Given the description of an element on the screen output the (x, y) to click on. 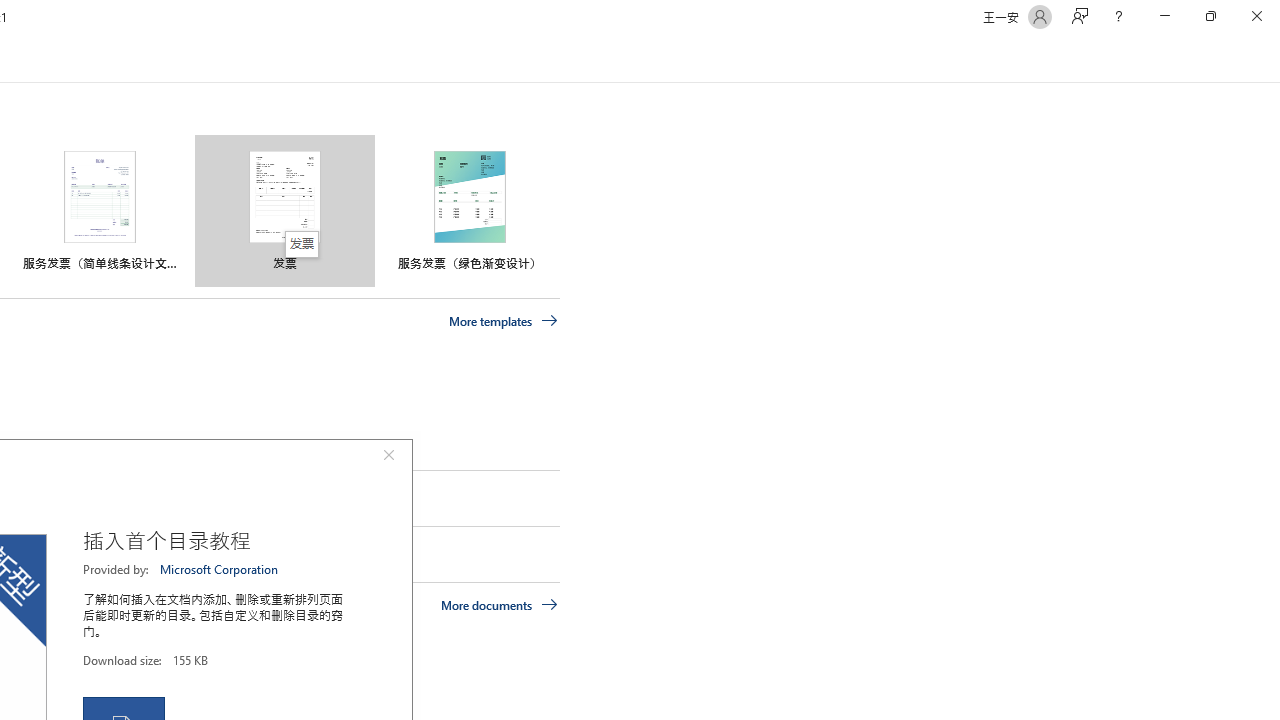
More documents (499, 604)
Class: NetUIScrollBar (1271, 59)
More templates (503, 321)
Microsoft Corporation (220, 569)
Pin this item to the list (20, 553)
